Given the description of an element on the screen output the (x, y) to click on. 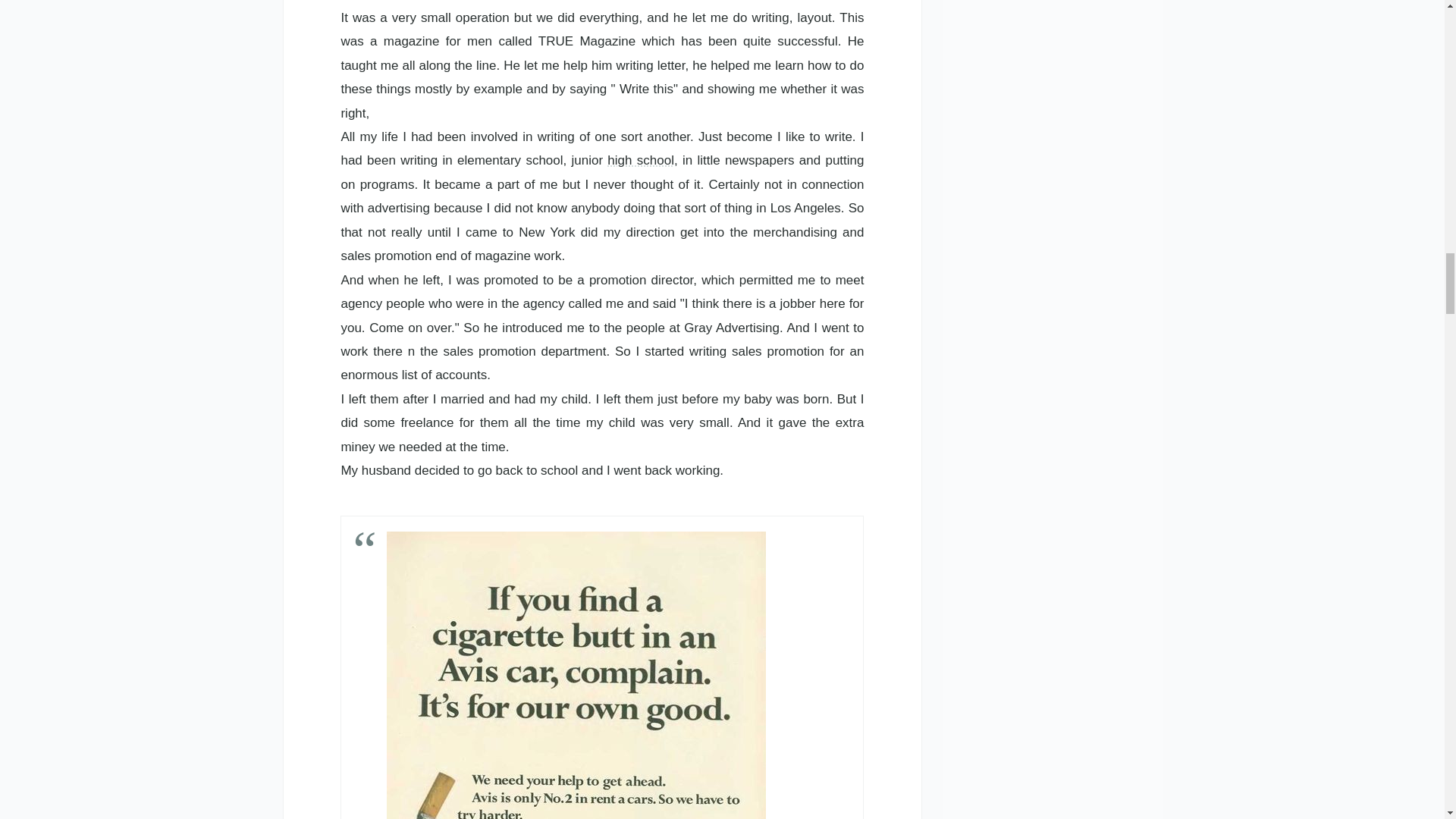
f:id:chuukyuu:20100822091421j:image (576, 675)
high school (640, 160)
